Given the description of an element on the screen output the (x, y) to click on. 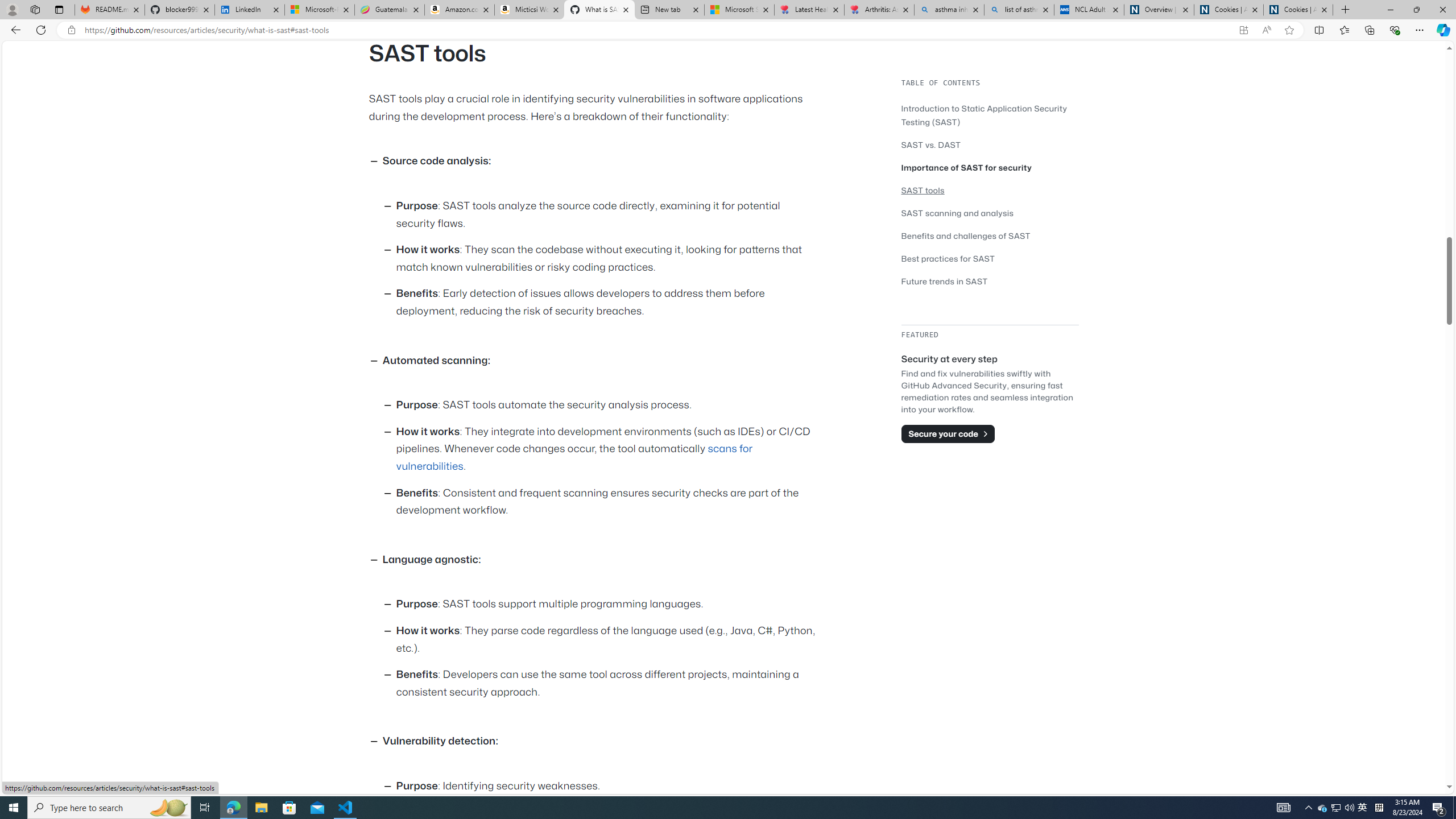
Arthritis: Ask Health Professionals (879, 9)
Purpose: SAST tools automate the security analysis process. (608, 405)
Cookies | About | NICE (1297, 9)
SAST vs. DAST (930, 144)
Importance of SAST for security (989, 167)
SAST vs. DAST (989, 144)
Secure your code (947, 433)
SAST tools (989, 190)
